Given the description of an element on the screen output the (x, y) to click on. 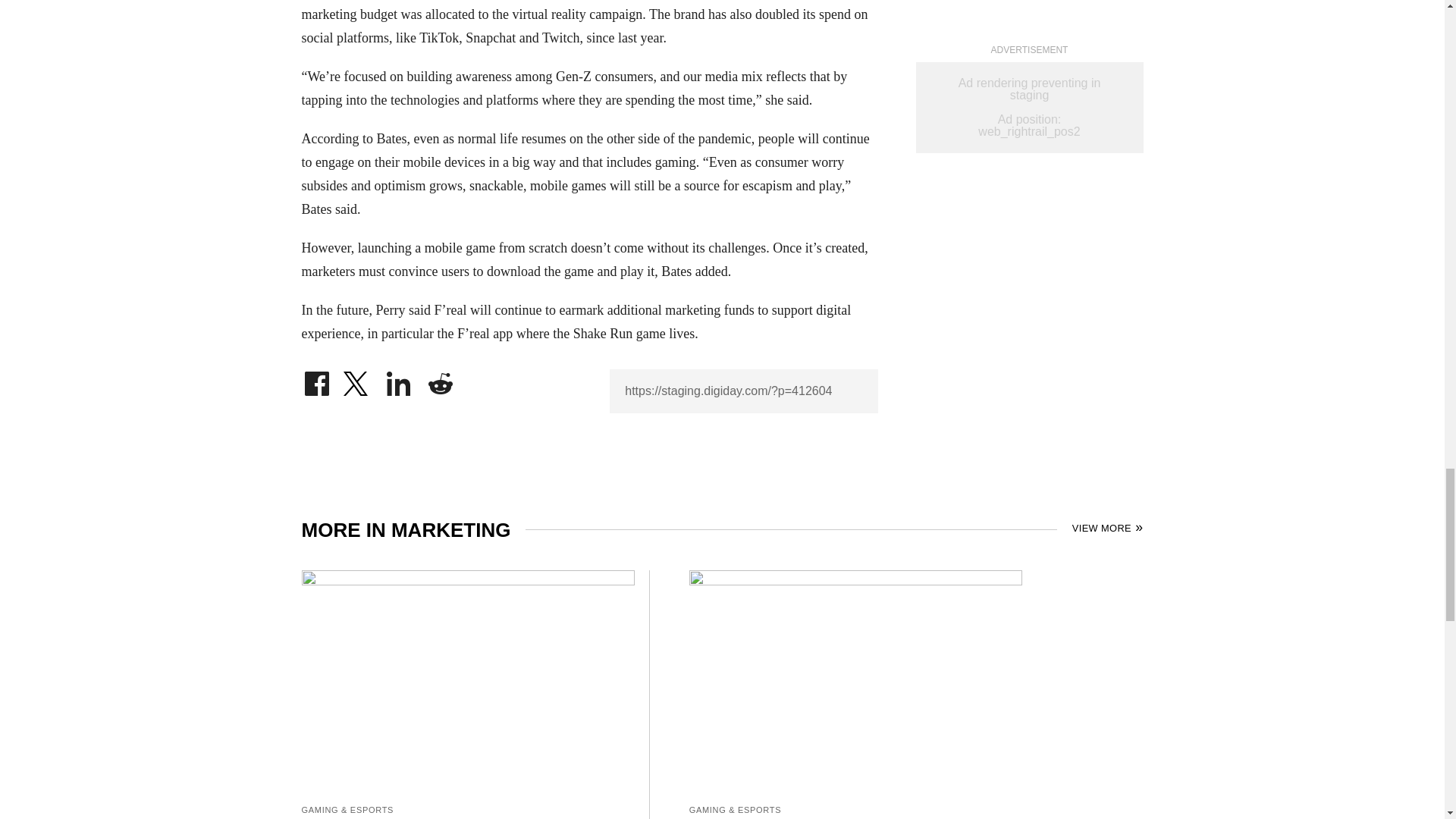
Share on Facebook (316, 379)
Share on Twitter (357, 379)
Share on Reddit (440, 379)
Share on LinkedIn (398, 379)
